Given the description of an element on the screen output the (x, y) to click on. 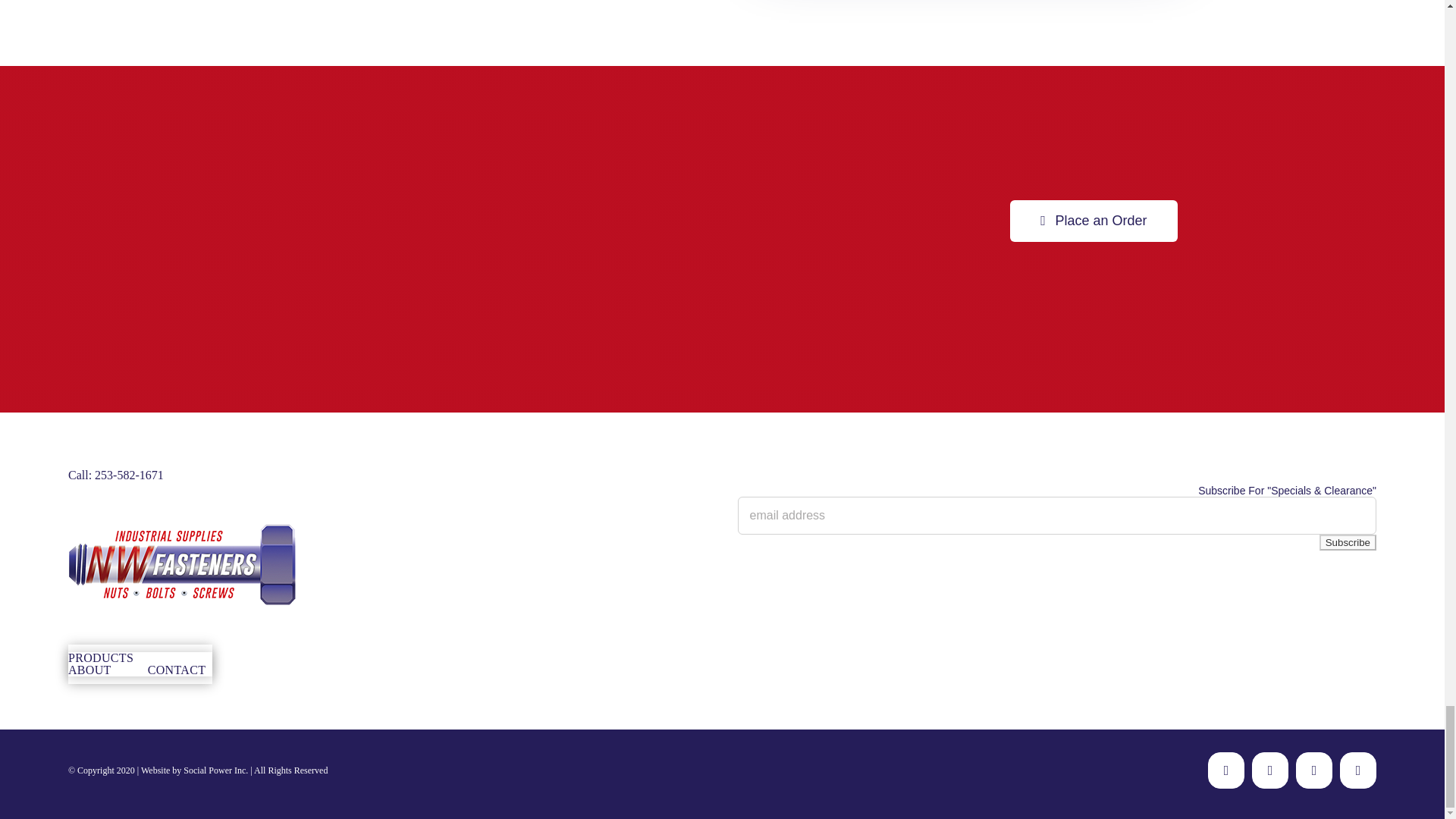
Subscribe (1347, 542)
